Given the description of an element on the screen output the (x, y) to click on. 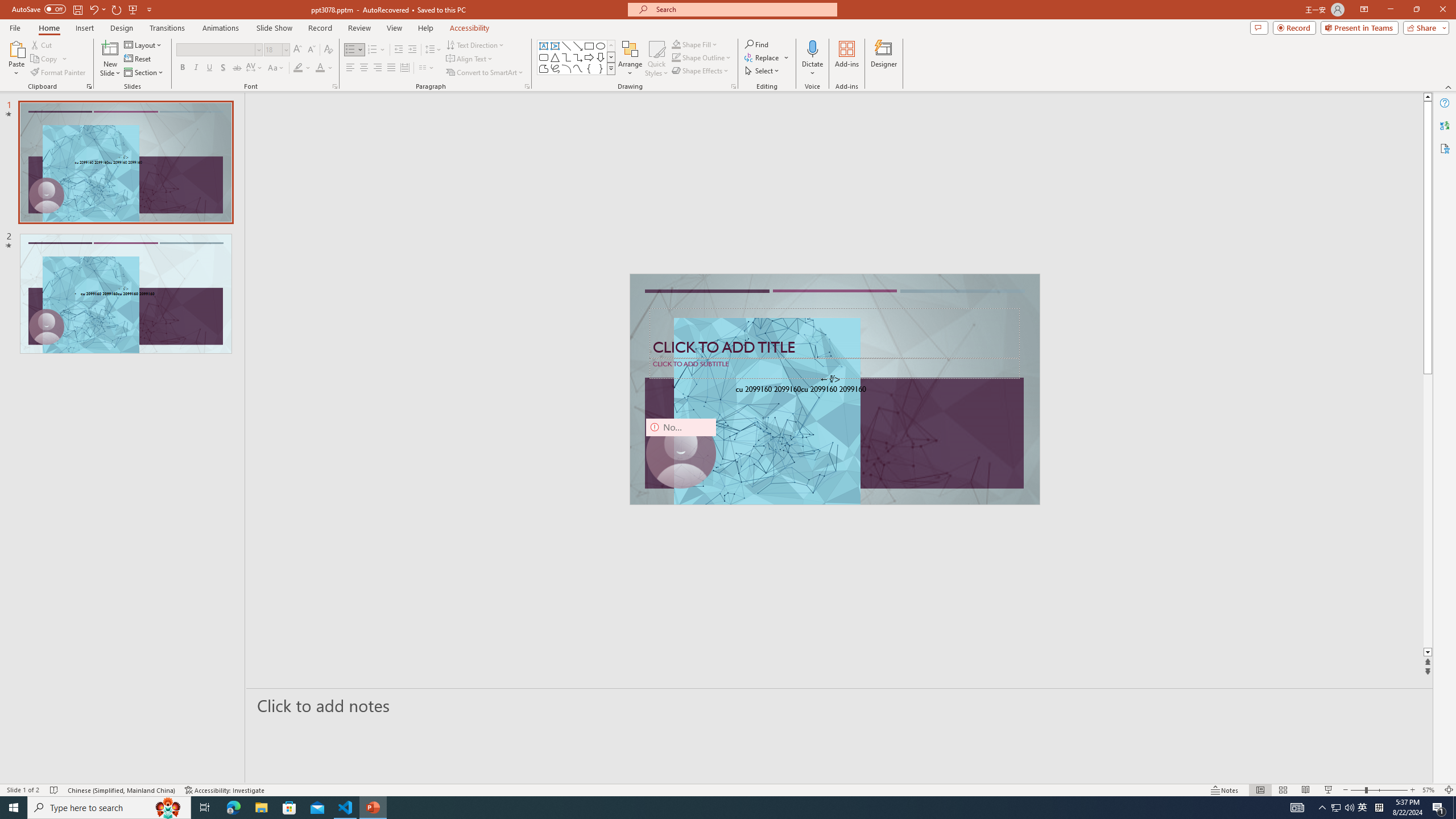
Accessibility Checker Accessibility: Investigate (224, 790)
Change Case (276, 67)
Decrease Indent (398, 49)
Font Color Red (320, 67)
Office Clipboard... (88, 85)
Title TextBox (834, 332)
Convert to SmartArt (485, 72)
Clear Formatting (327, 49)
